Given the description of an element on the screen output the (x, y) to click on. 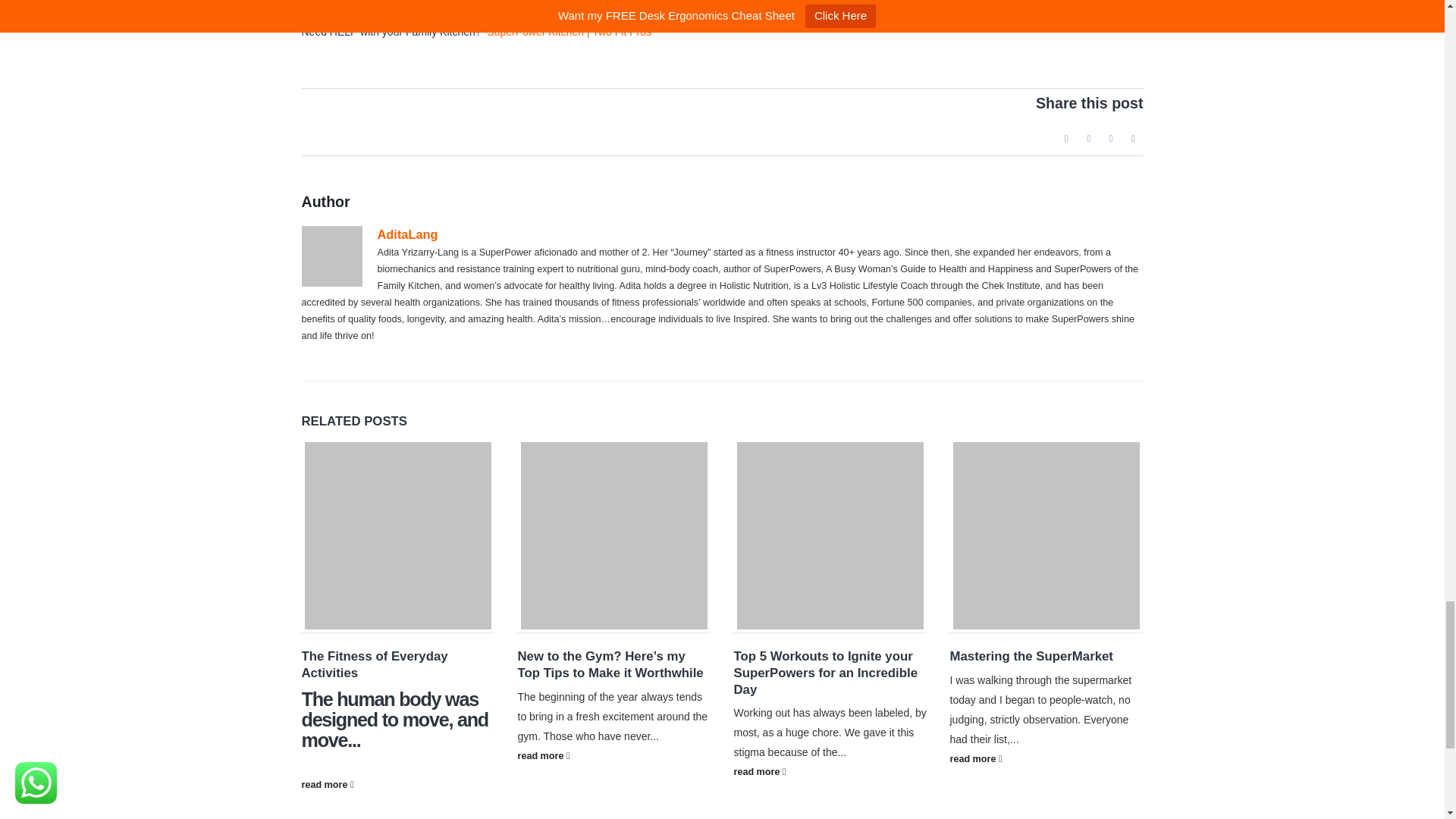
www.AditaLang.com (567, 1)
Twitter (1088, 138)
Facebook (1066, 138)
Posts by AditaLang (407, 233)
LinkedIn (1110, 138)
